Given the description of an element on the screen output the (x, y) to click on. 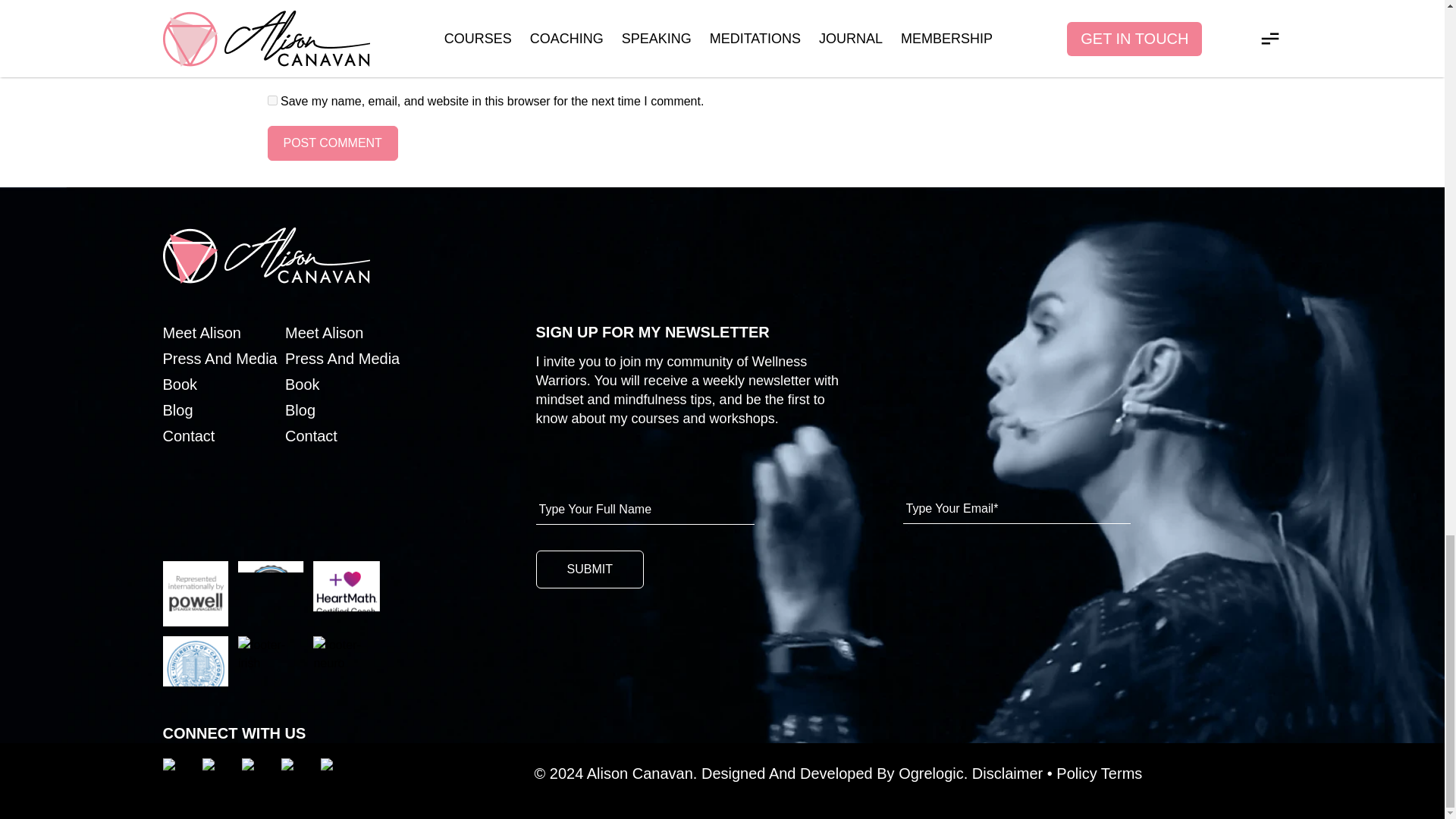
Submit (589, 569)
Post Comment (331, 143)
yes (271, 100)
